Given the description of an element on the screen output the (x, y) to click on. 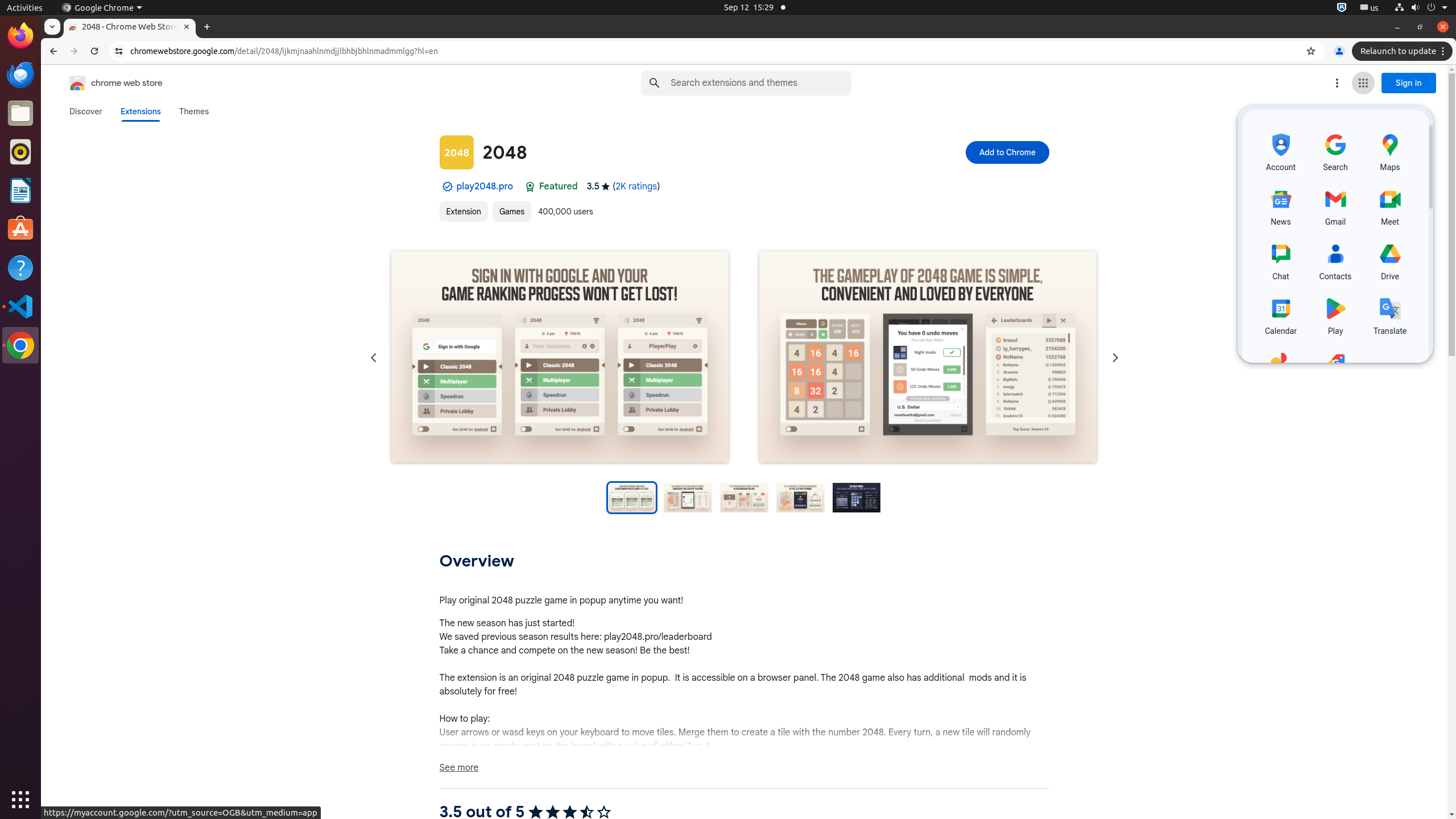
Google apps Element type: push-button (1362, 82)
Show Applications Element type: toggle-button (20, 799)
Translate, row 4 of 5 and column 3 of 3 in the first section (opens a new tab) Element type: link (1389, 314)
Back Element type: push-button (51, 50)
:1.21/StatusNotifierItem Element type: menu (1369, 7)
